Given the description of an element on the screen output the (x, y) to click on. 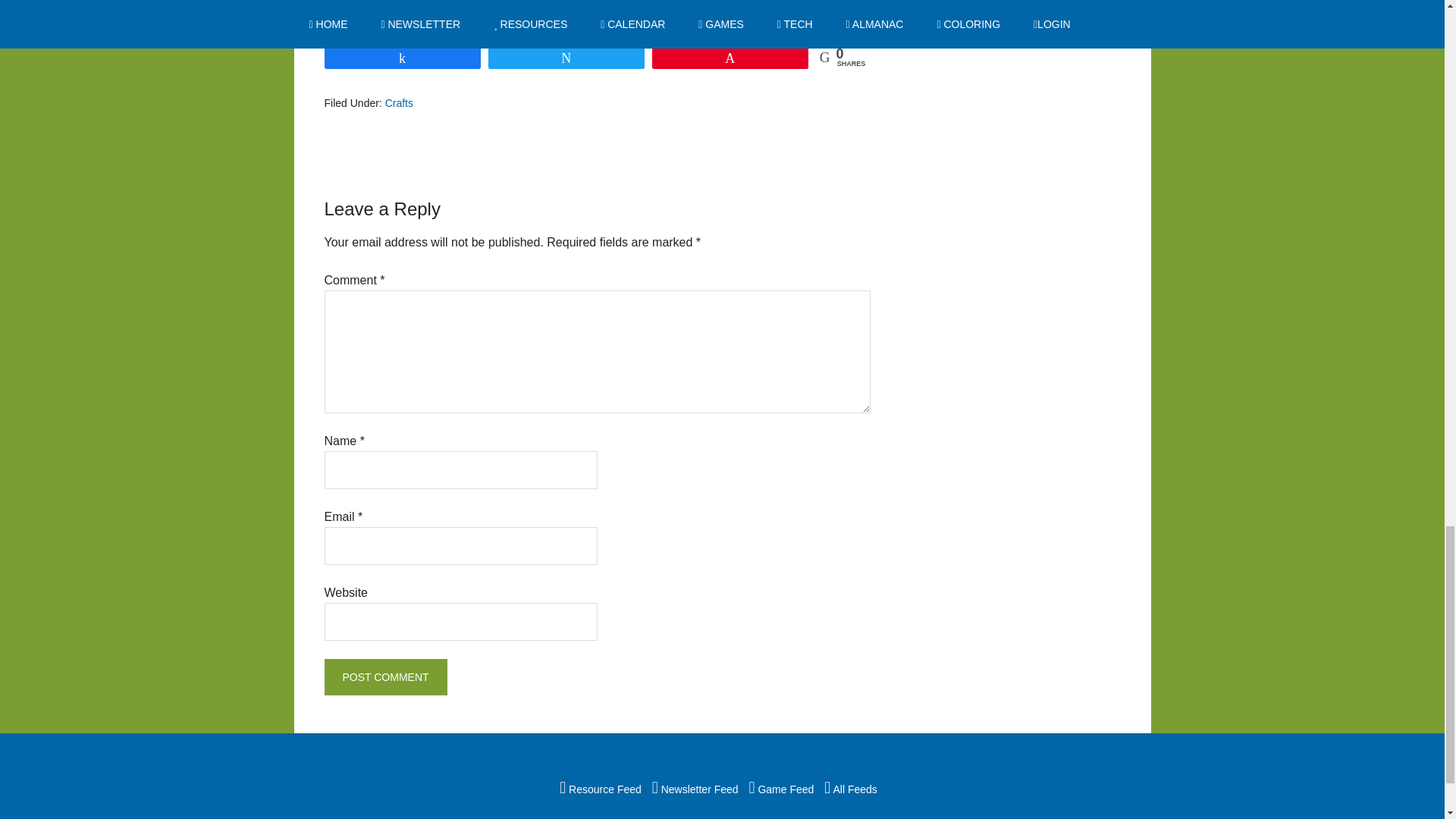
Post Comment (385, 677)
